Given the description of an element on the screen output the (x, y) to click on. 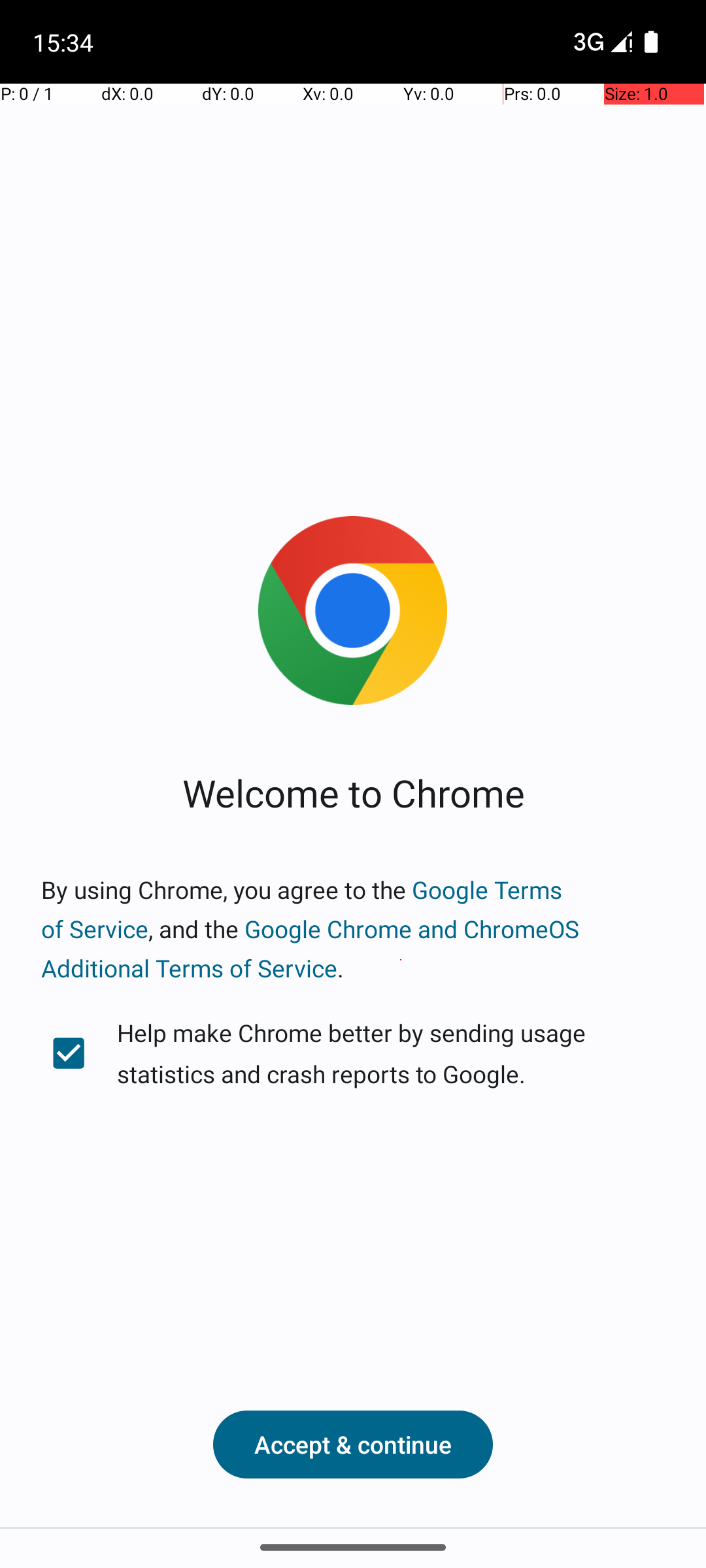
By using Chrome, you agree to the Google Terms of Service, and the Google Chrome and ChromeOS Additional Terms of Service. Element type: android.widget.TextView (352, 928)
Help make Chrome better by sending usage statistics and crash reports to Google. Element type: android.widget.CheckBox (352, 1053)
